Given the description of an element on the screen output the (x, y) to click on. 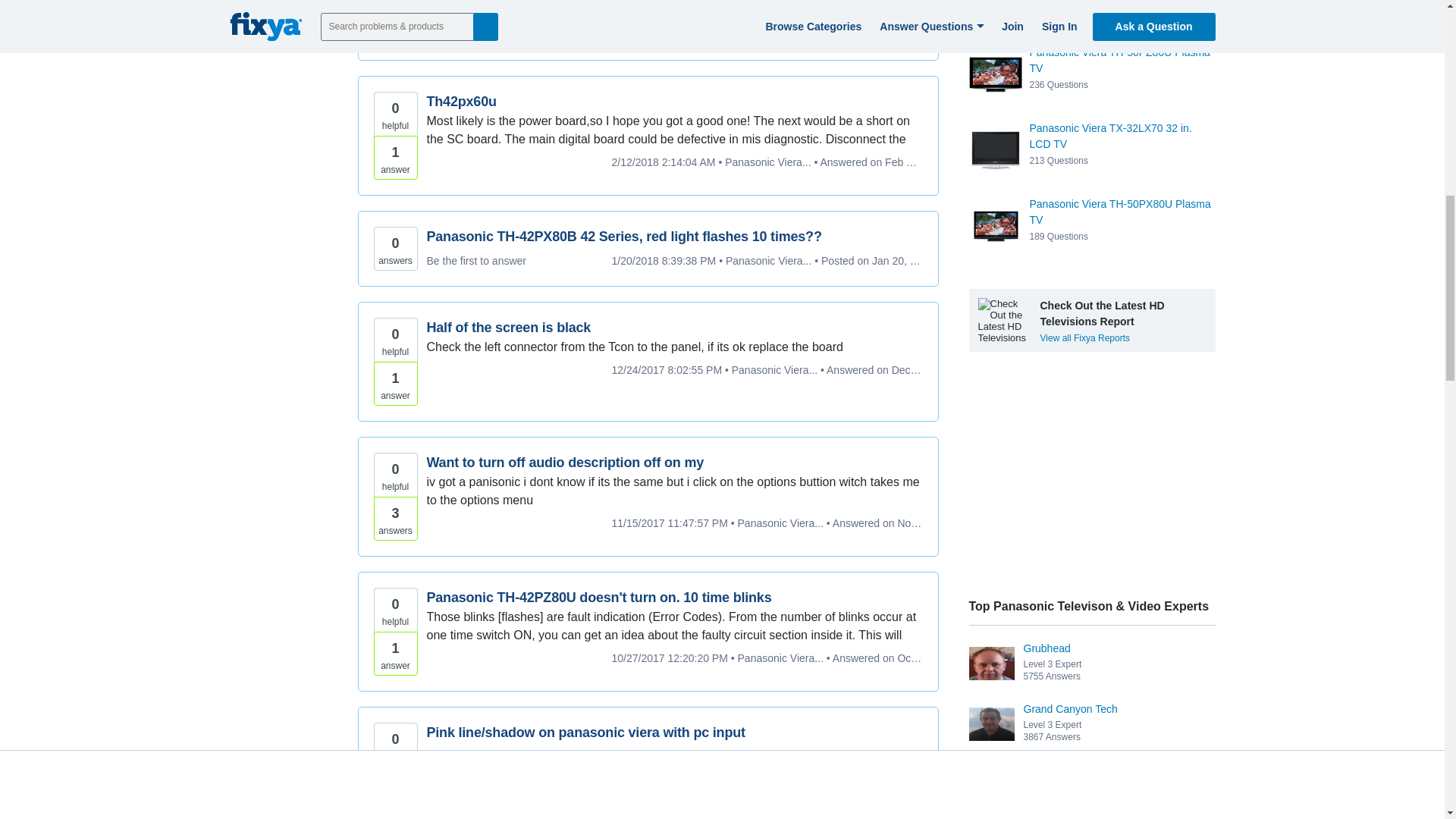
Panasonic Viera... (774, 9)
